Given the description of an element on the screen output the (x, y) to click on. 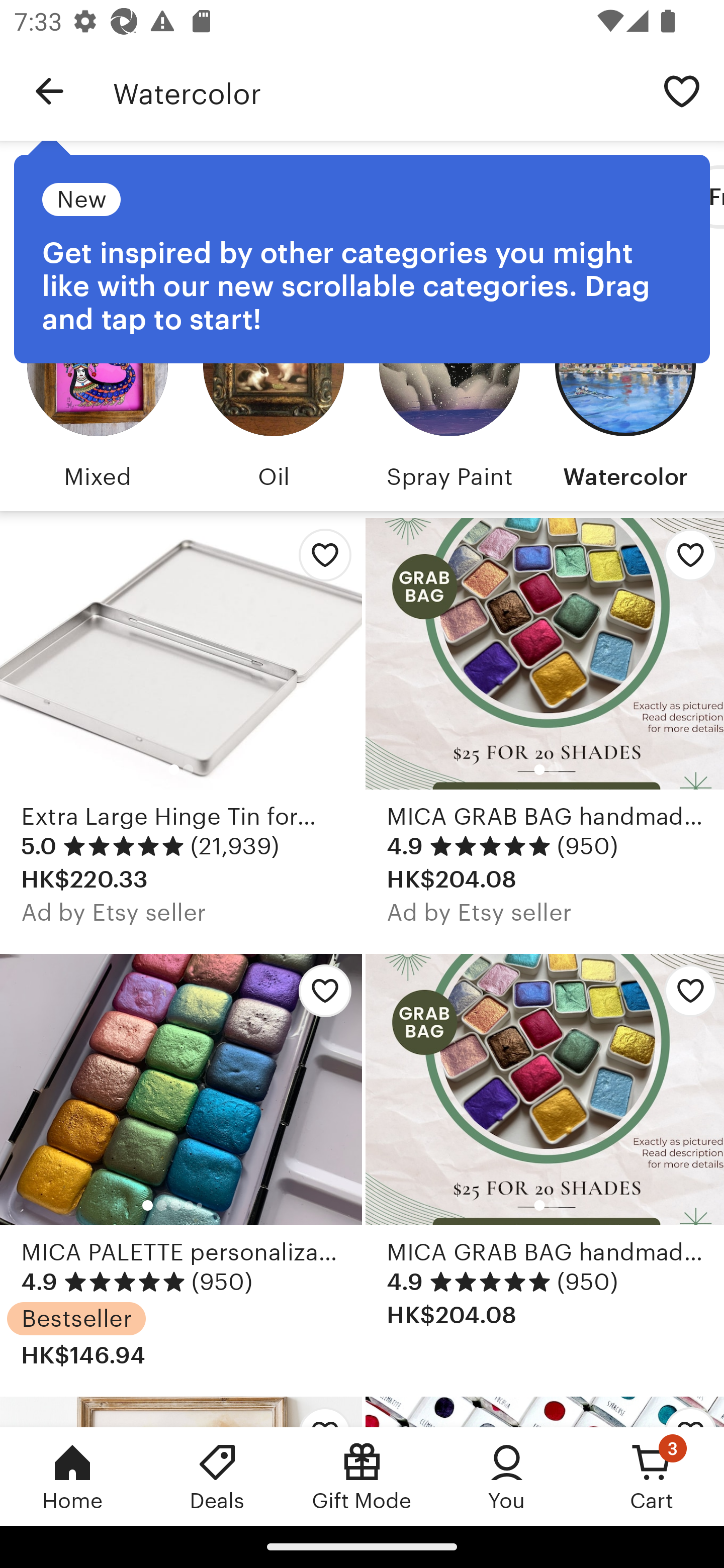
Navigate up (49, 91)
Save search (681, 90)
Watercolor (375, 91)
Filter (82, 197)
Mixed (97, 395)
Oil (273, 395)
Spray Paint (449, 395)
Watercolor (625, 395)
Deals (216, 1475)
Gift Mode (361, 1475)
You (506, 1475)
Cart, 3 new notifications Cart (651, 1475)
